Given the description of an element on the screen output the (x, y) to click on. 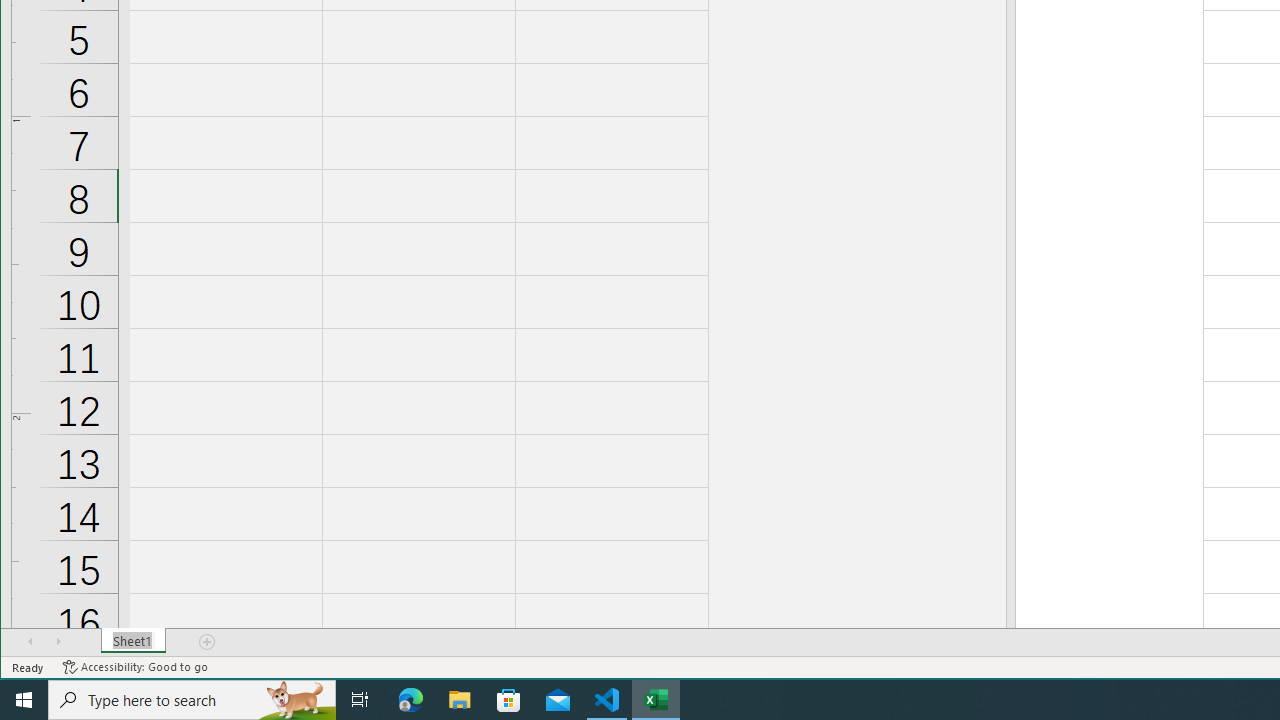
Search highlights icon opens search home window (295, 699)
File Explorer (460, 699)
Microsoft Edge (411, 699)
Start (24, 699)
Excel - 1 running window (656, 699)
Visual Studio Code - 1 running window (607, 699)
Sheet Tab (133, 641)
Type here to search (191, 699)
Task View (359, 699)
